Given the description of an element on the screen output the (x, y) to click on. 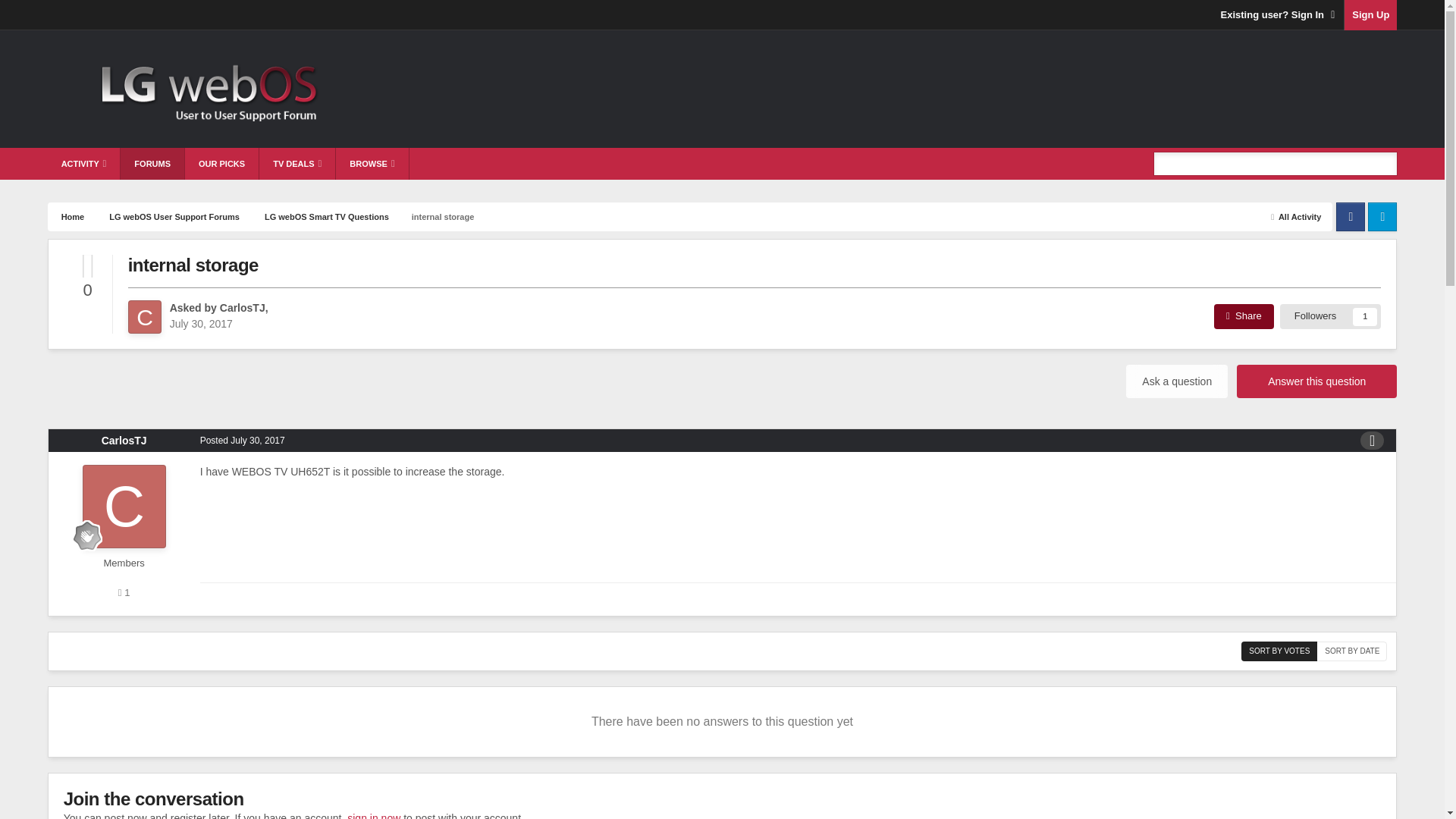
Twitter (1382, 215)
Go to CarlosTJ's profile (144, 316)
Facebook (1350, 215)
LG webOS Smart TV Questions (325, 215)
ACTIVITY (84, 163)
BROWSE (371, 163)
Sign in to follow this (1330, 315)
Home (72, 215)
Home (72, 215)
FORUMS (152, 163)
